Given the description of an element on the screen output the (x, y) to click on. 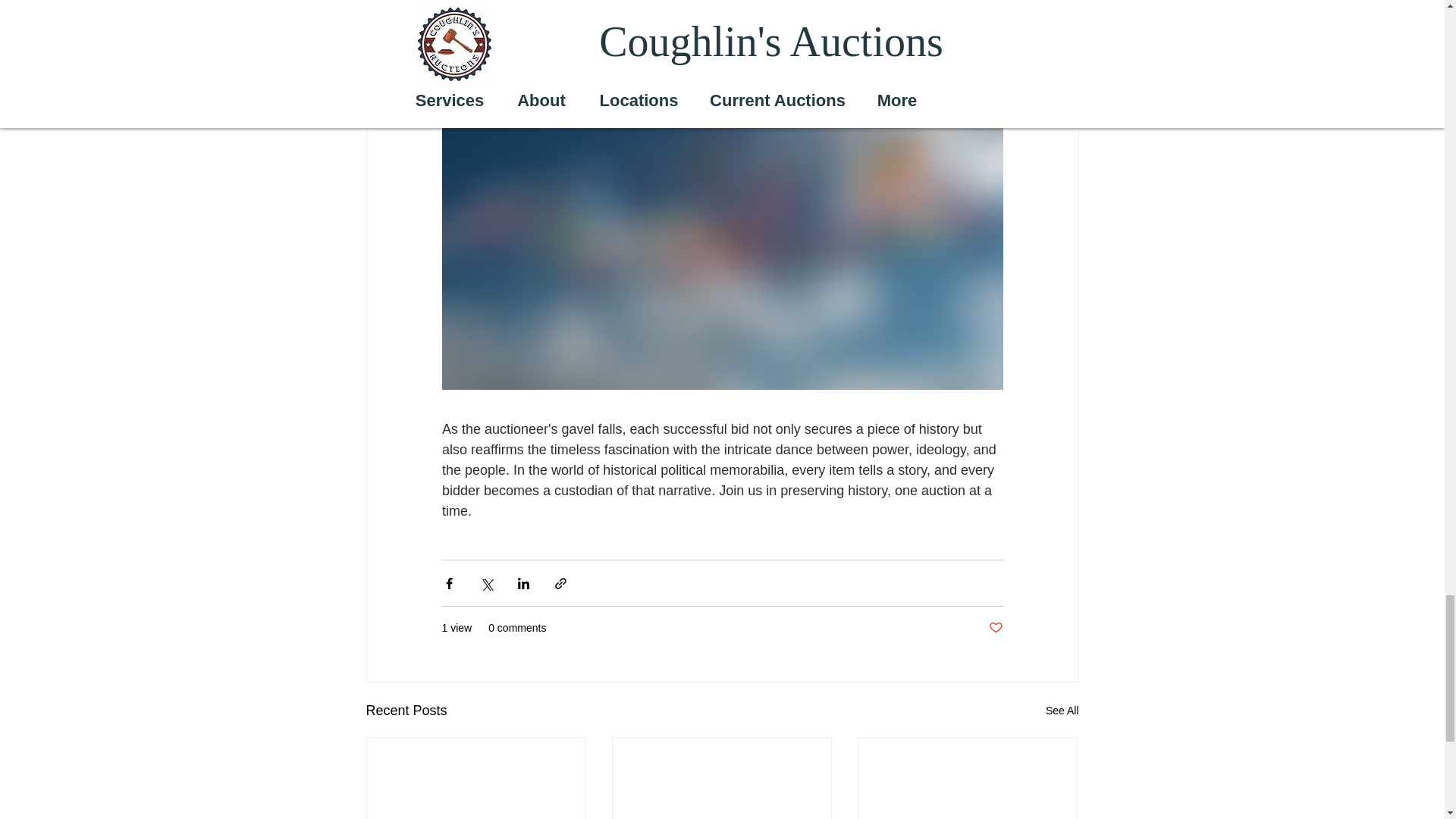
Post not marked as liked (995, 627)
See All (1061, 710)
